Given the description of an element on the screen output the (x, y) to click on. 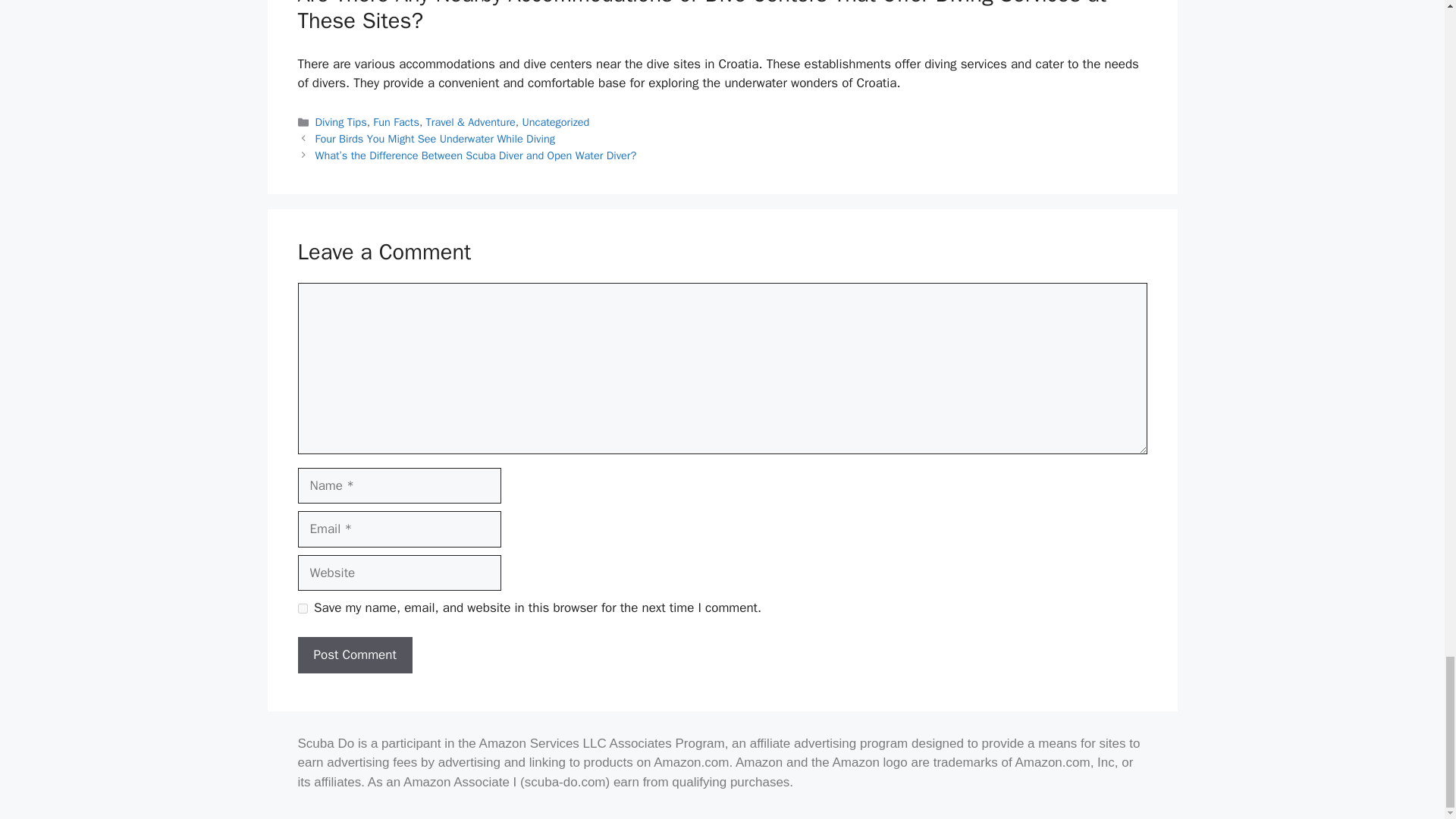
Uncategorized (555, 121)
Fun Facts (395, 121)
Diving Tips (340, 121)
Post Comment (354, 655)
Post Comment (354, 655)
yes (302, 608)
Four Birds You Might See Underwater While Diving (434, 138)
